Given the description of an element on the screen output the (x, y) to click on. 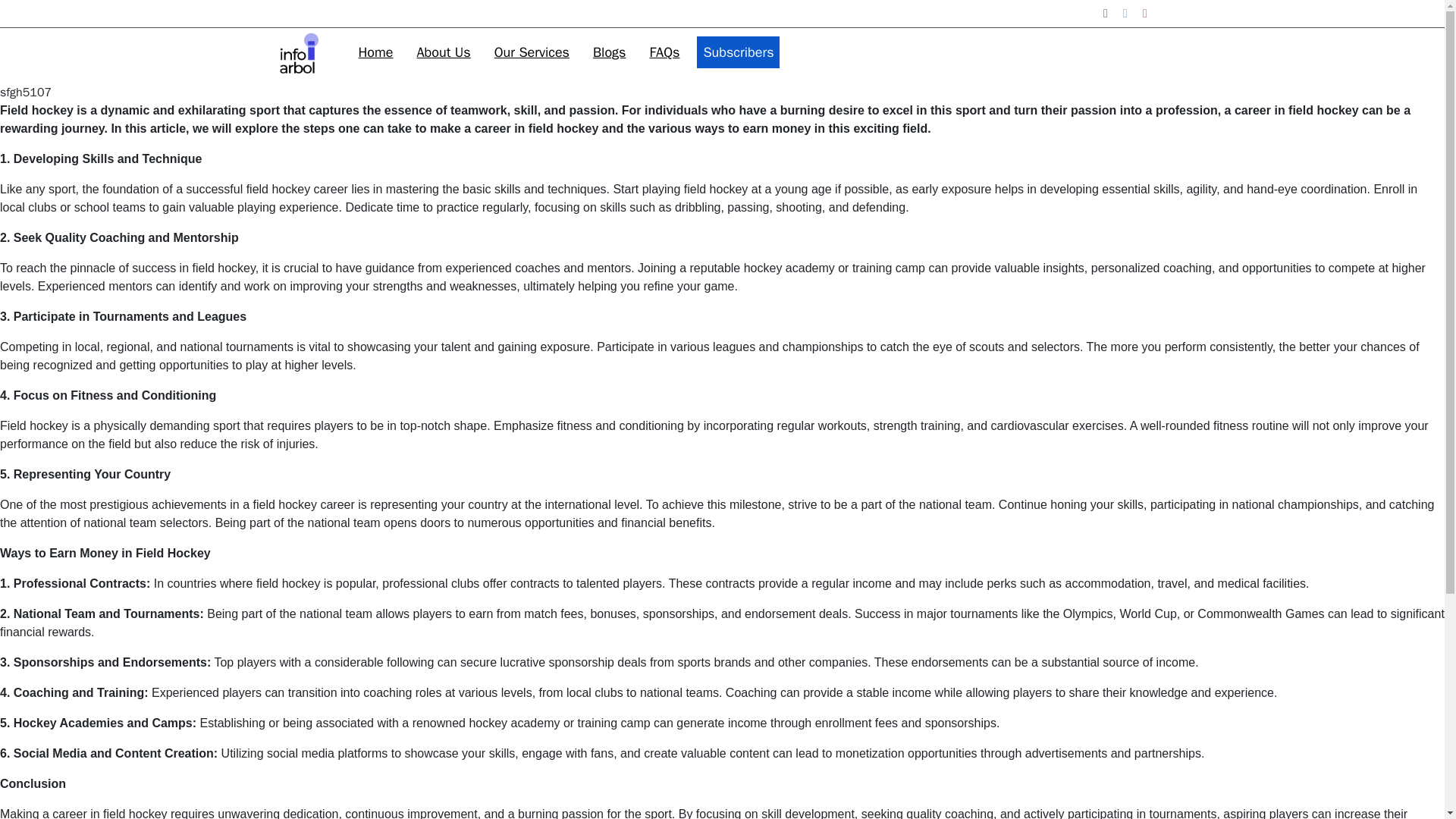
About Us (443, 51)
Blogs (608, 51)
Our Services (531, 51)
Subscribers (737, 51)
FAQs (664, 51)
Home (375, 51)
